Given the description of an element on the screen output the (x, y) to click on. 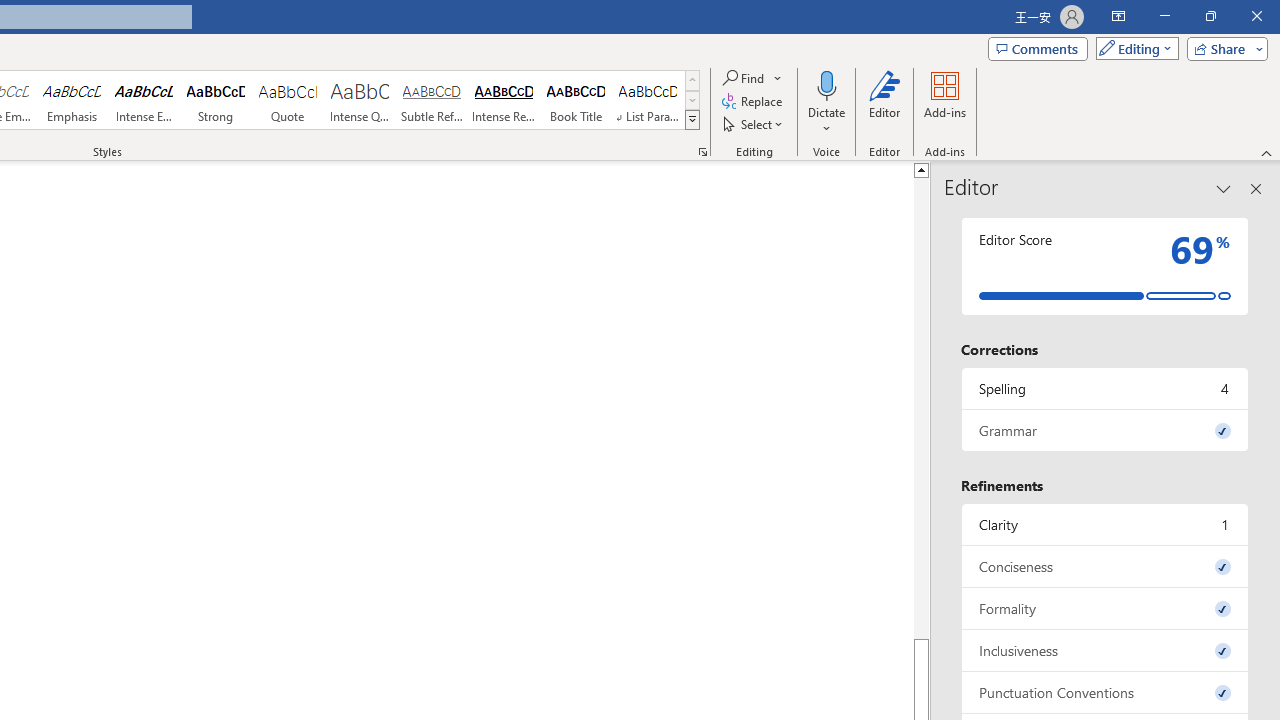
Formality, 0 issues. Press space or enter to review items. (1105, 608)
Grammar, 0 issues. Press space or enter to review items. (1105, 429)
Conciseness, 0 issues. Press space or enter to review items. (1105, 565)
